Given the description of an element on the screen output the (x, y) to click on. 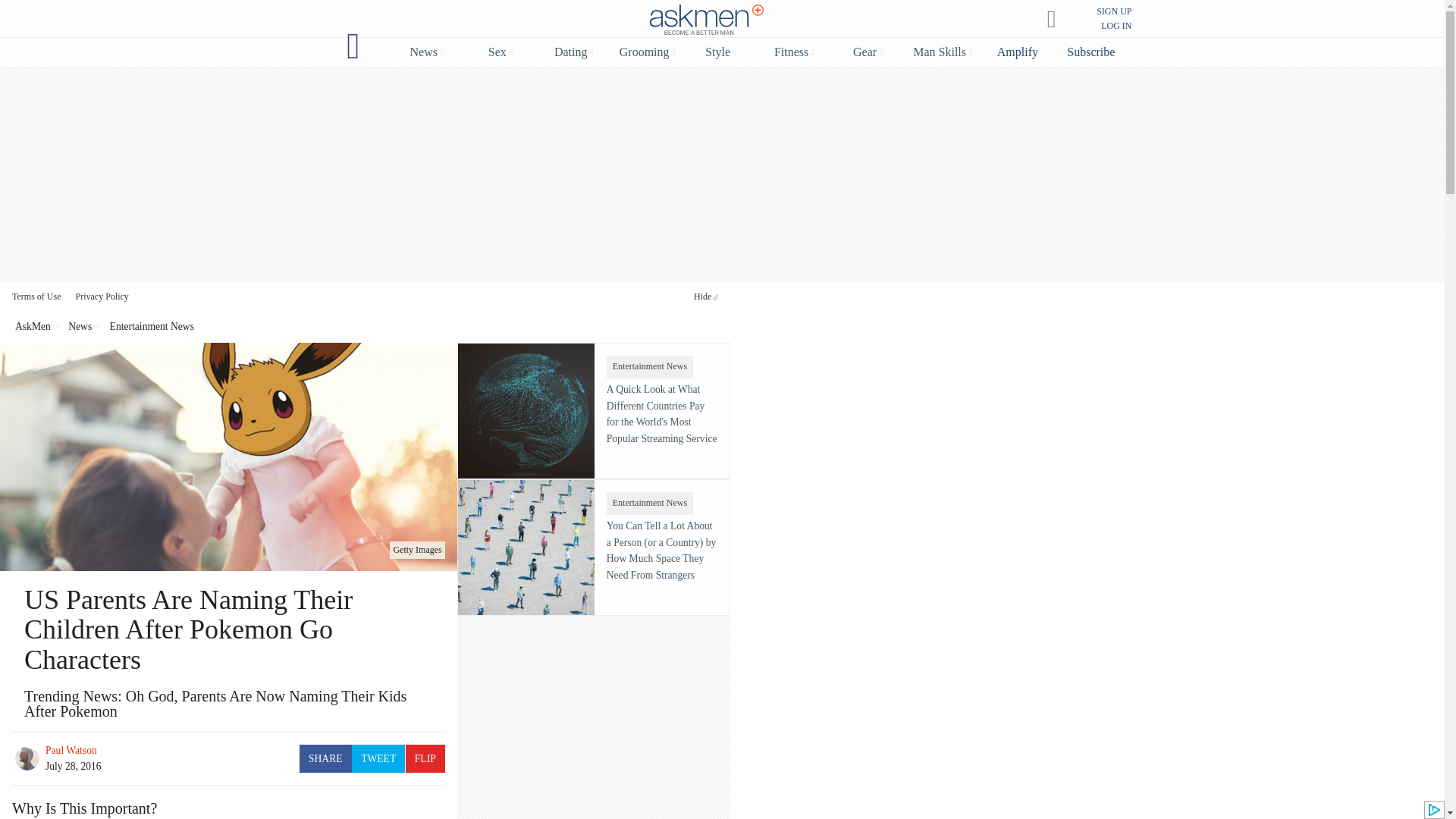
LOG IN (1115, 25)
AskMen (706, 20)
GuyQ (352, 45)
SIGN UP (1113, 11)
